Given the description of an element on the screen output the (x, y) to click on. 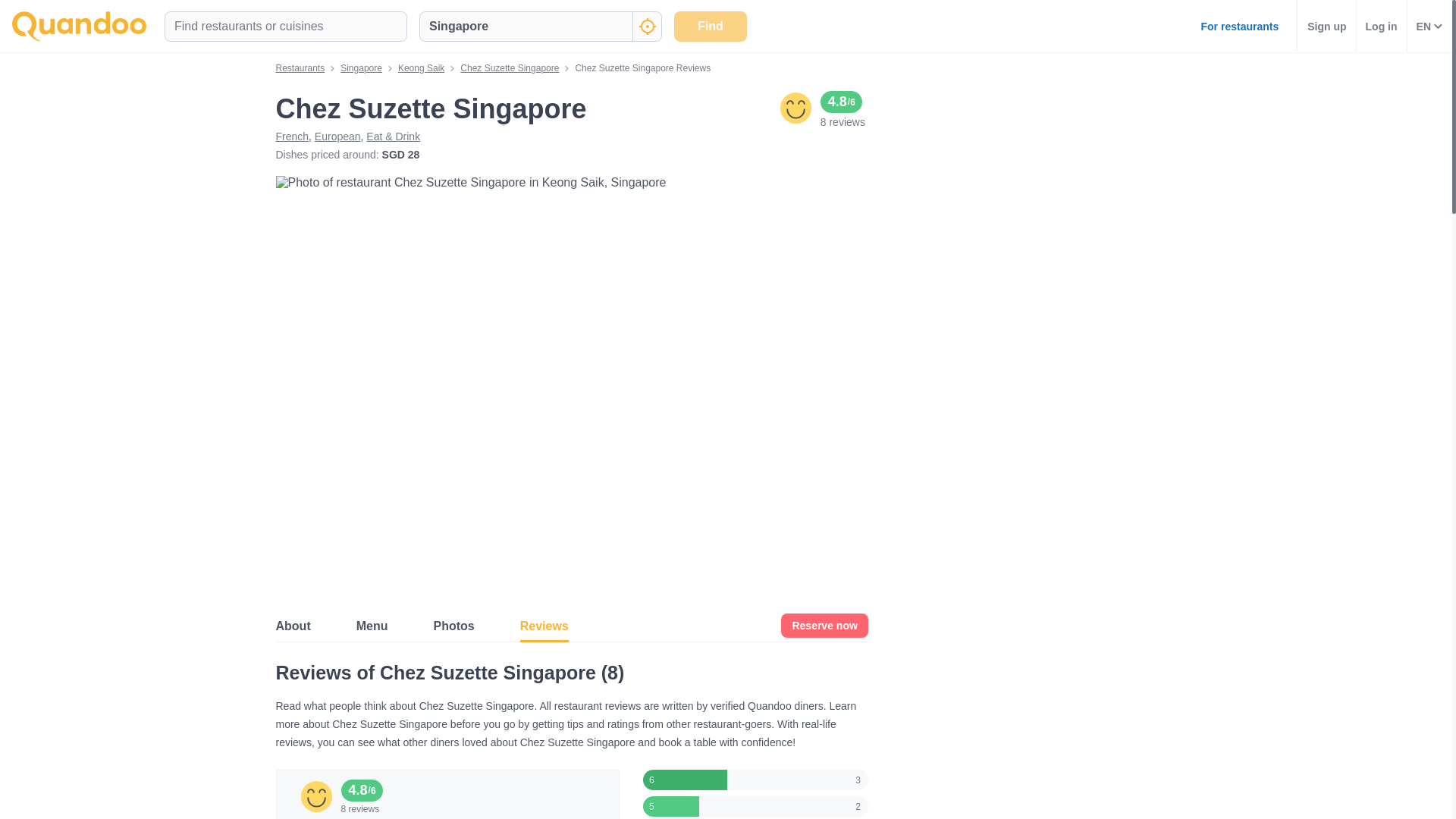
Menu (372, 625)
French (292, 136)
About (293, 625)
Photos (453, 625)
For restaurants (1239, 25)
Singapore (360, 68)
European (337, 136)
8 reviews (842, 122)
Keong Saik (420, 68)
Chez Suzette Singapore (509, 68)
